Given the description of an element on the screen output the (x, y) to click on. 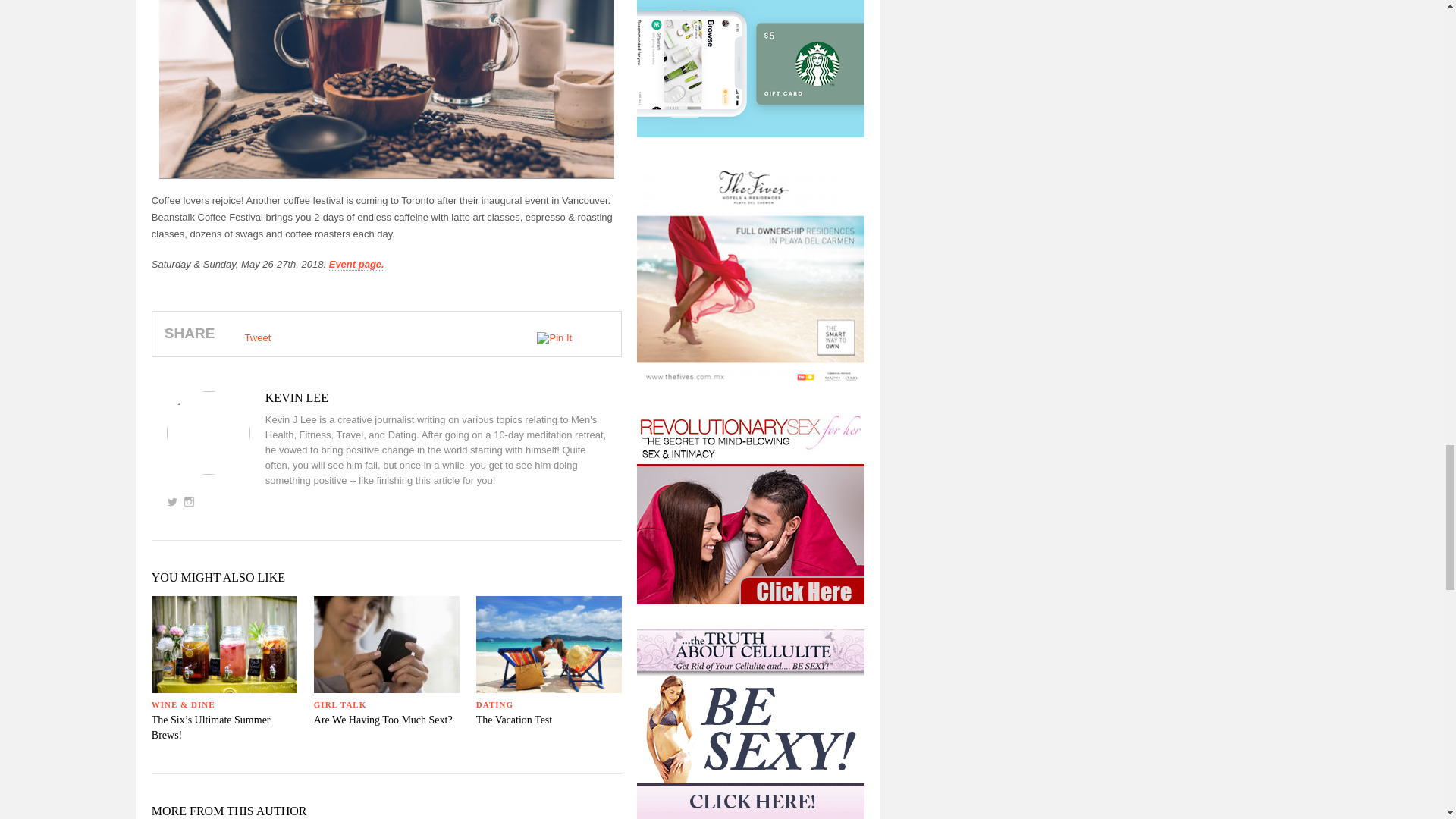
Permanent Link: Are We Having Too Much Sext? (383, 719)
Pin It (554, 337)
Posts by Kevin Lee (387, 397)
Permanent Link: The Vacation Test (513, 719)
